Given the description of an element on the screen output the (x, y) to click on. 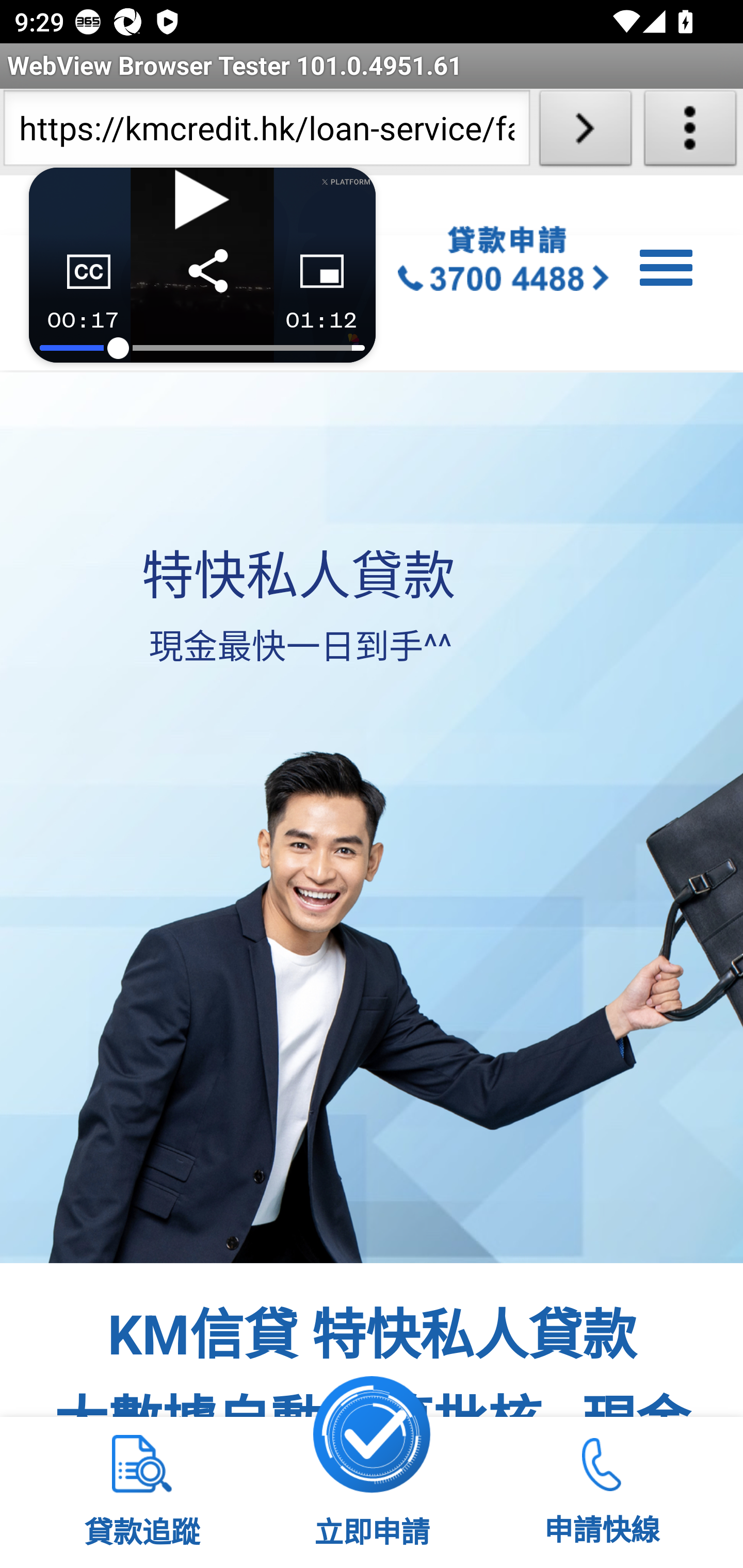
Load URL (585, 132)
About WebView (690, 132)
Group-2430 (503, 262)
